Given the description of an element on the screen output the (x, y) to click on. 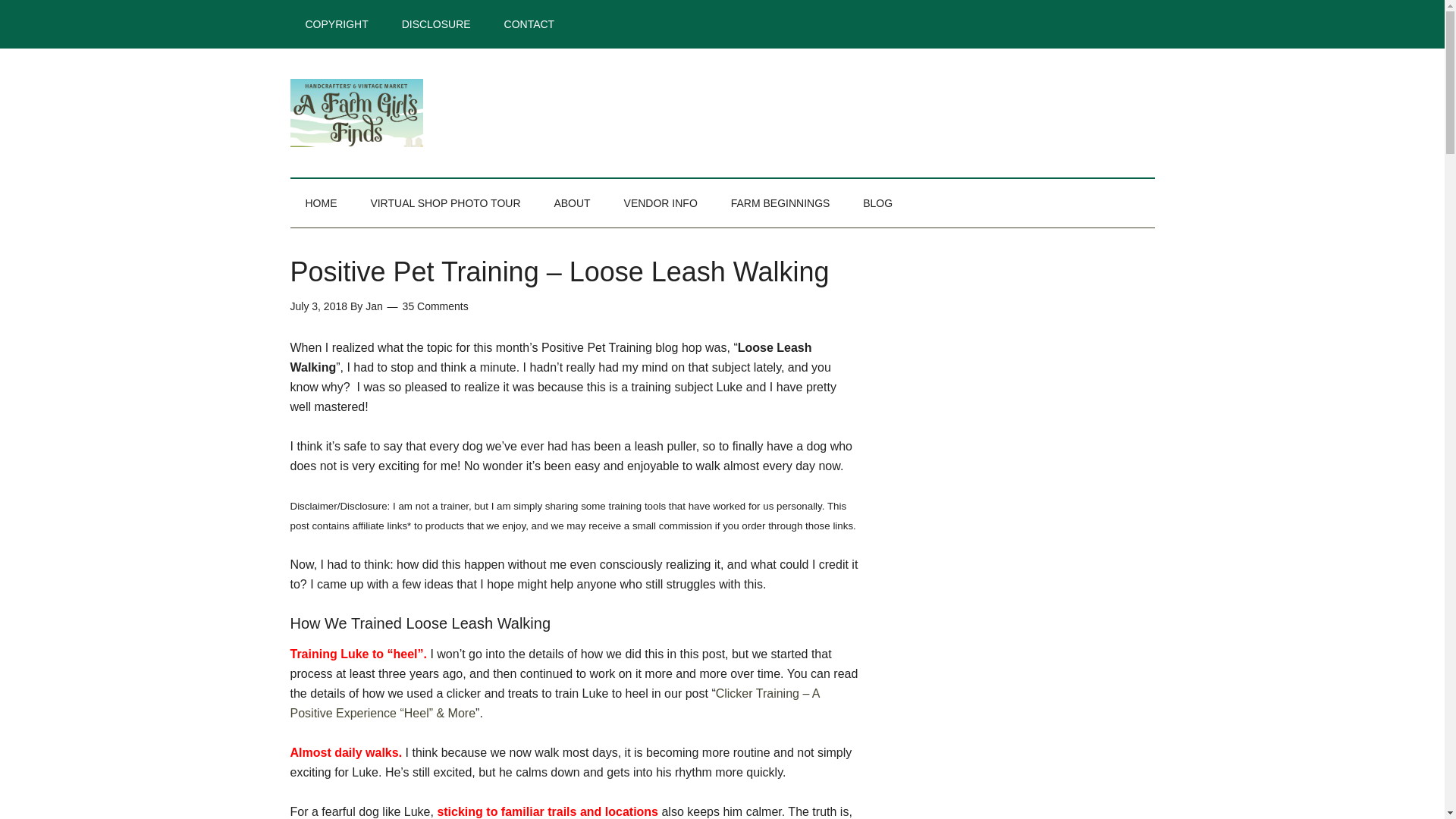
VIRTUAL SHOP PHOTO TOUR (445, 203)
FARM BEGINNINGS (780, 203)
35 Comments (435, 306)
ABOUT (571, 203)
BLOG (877, 203)
A Farm Girl's Finds (433, 112)
VENDOR INFO (660, 203)
COPYRIGHT (335, 24)
Jan (373, 306)
HOME (320, 203)
